Given the description of an element on the screen output the (x, y) to click on. 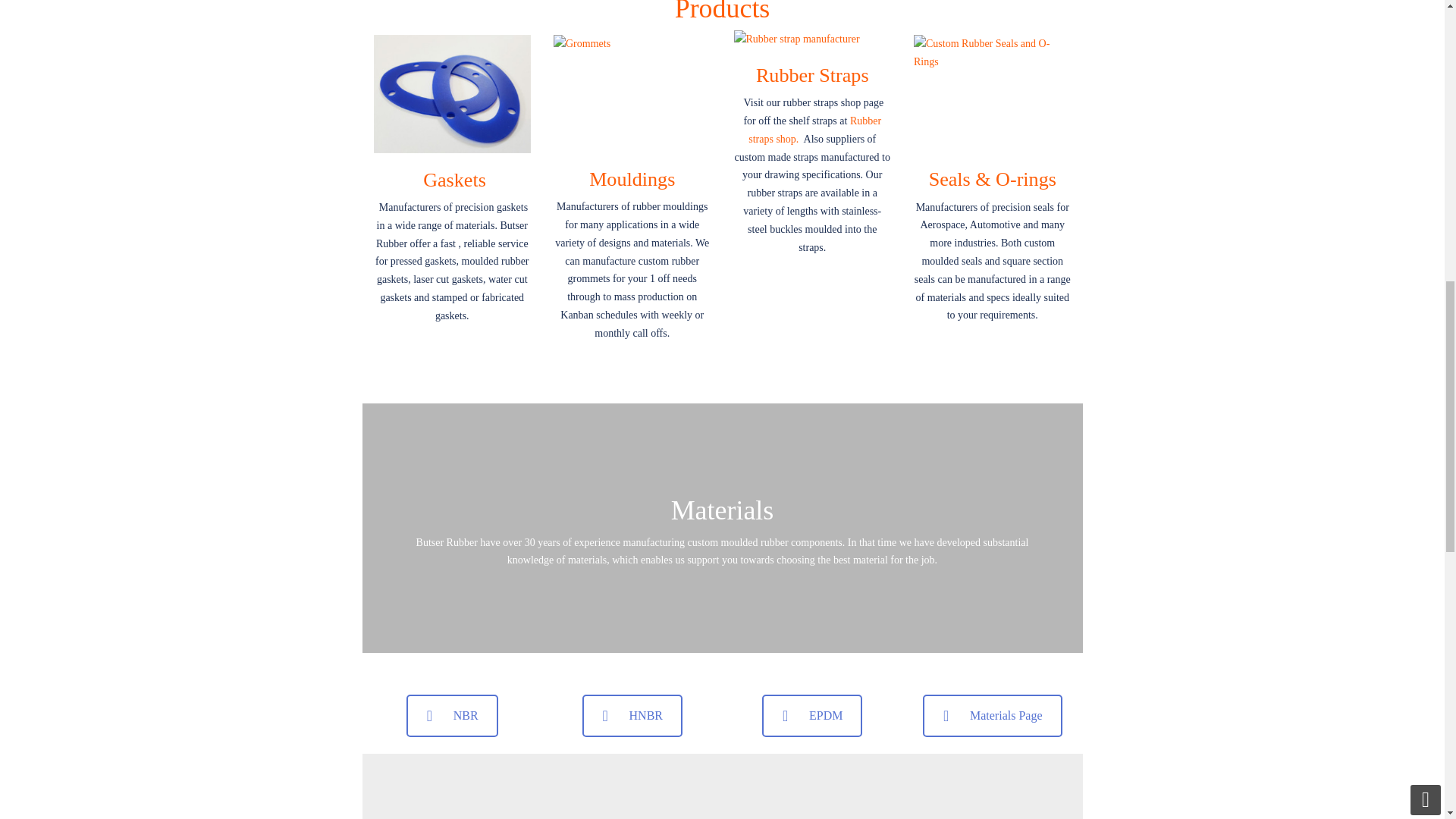
HNBR (632, 715)
Materials Page (992, 715)
NBR (451, 715)
Gaskets (454, 179)
EPDM (811, 715)
Mouldings (632, 179)
Rubber straps shop.  (814, 129)
Rubber Straps (812, 75)
HNBR (632, 715)
NBR (451, 715)
